Given the description of an element on the screen output the (x, y) to click on. 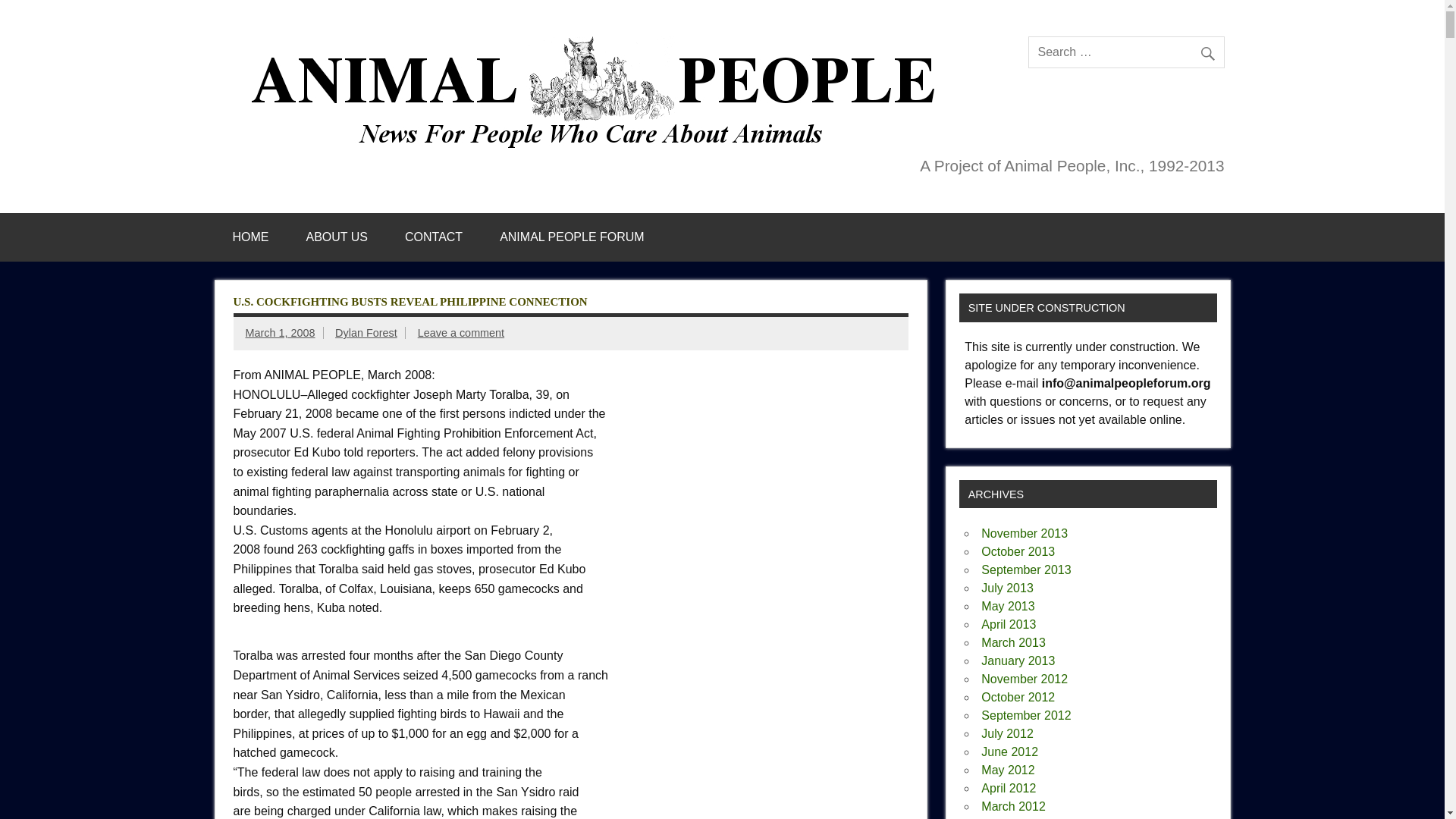
May 2013 (1007, 605)
March 2012 (1013, 806)
November 2013 (1024, 533)
Dylan Forest (365, 332)
April 2013 (1008, 624)
Leave a comment (460, 332)
September 2013 (1025, 569)
September 2012 (1025, 715)
7:48 pm (280, 332)
June 2012 (1009, 751)
CONTACT (433, 236)
April 2012 (1008, 788)
March 1, 2008 (280, 332)
HOME (250, 236)
January 2012 (1017, 818)
